Given the description of an element on the screen output the (x, y) to click on. 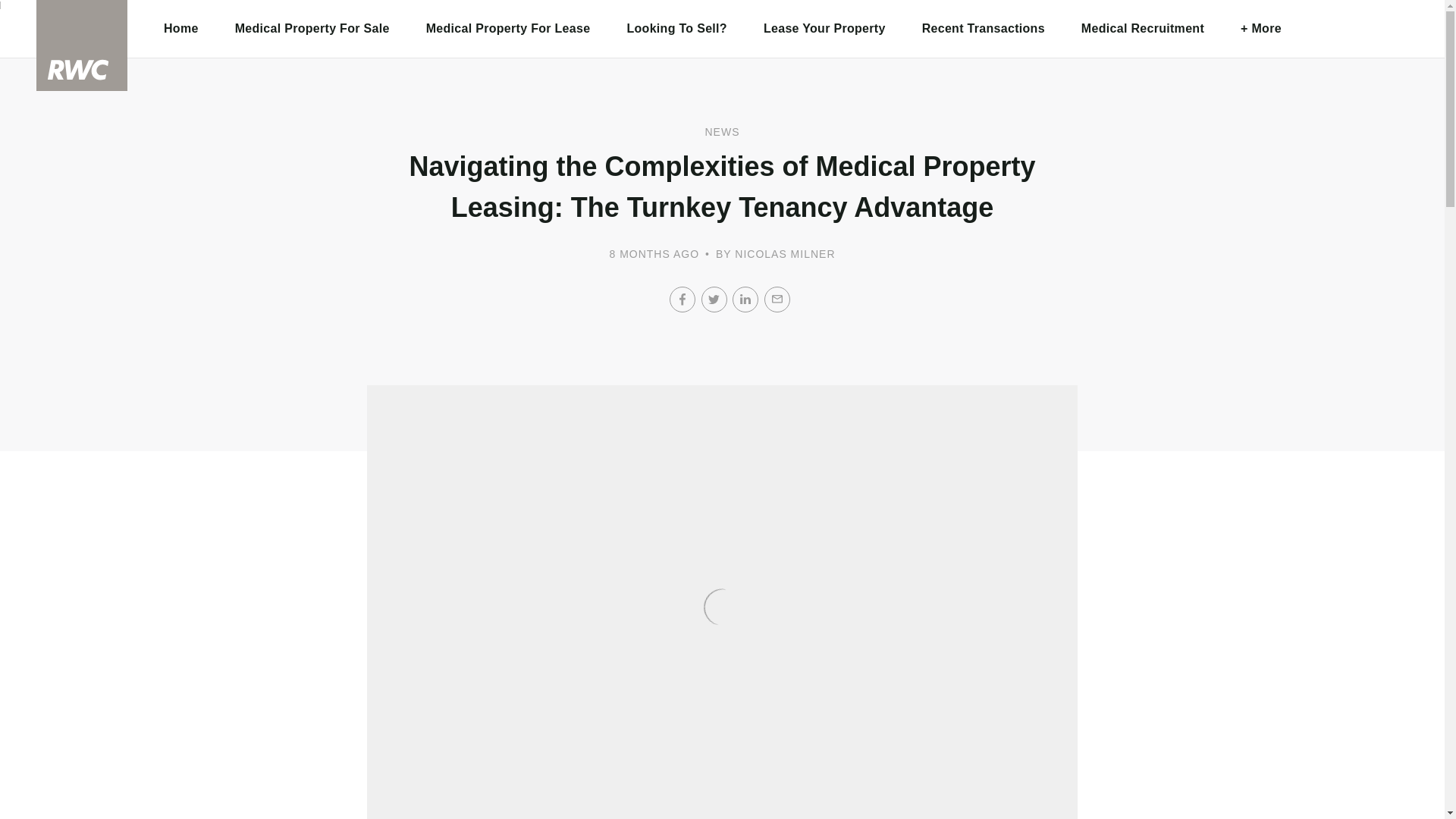
Twitter (713, 299)
LinkedIn (745, 299)
Medical Property For Sale (311, 28)
Home (180, 28)
Medical Property For Lease (507, 28)
Lease Your Property (824, 28)
Facebook (682, 299)
Email (777, 299)
Recent Transactions (983, 28)
Looking To Sell? (676, 28)
Medical Recruitment (1142, 28)
